Given the description of an element on the screen output the (x, y) to click on. 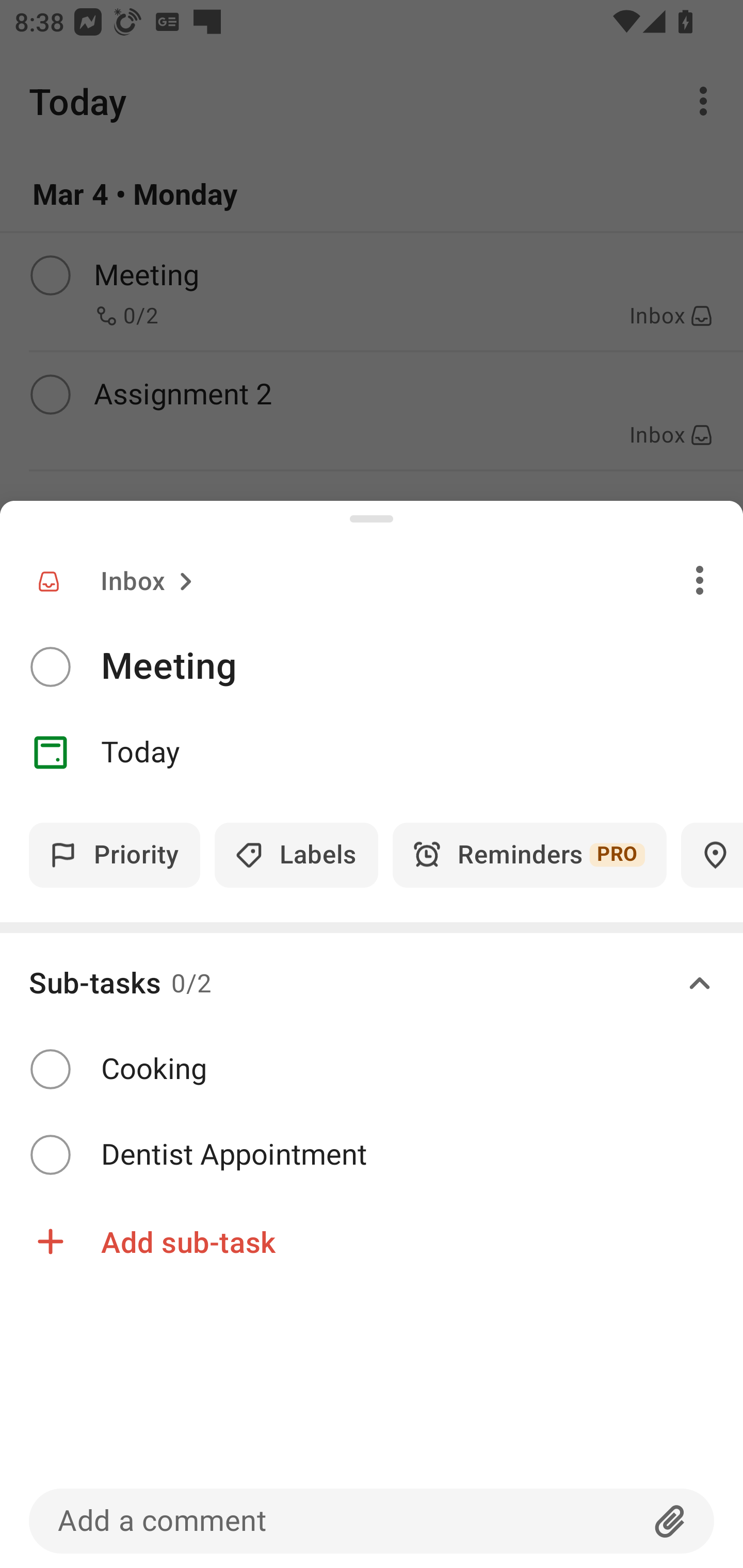
Overflow menu (699, 580)
Complete (50, 667)
Meeting​ (422, 666)
Date Today (371, 752)
Priority (113, 855)
Labels (296, 855)
Reminders PRO (529, 855)
Locations PRO (712, 855)
Sub-tasks 0/2 Expand/collapse (371, 983)
Expand/collapse (699, 983)
Complete Cooking (371, 1070)
Complete (50, 1069)
Complete Dentist Appointment (371, 1155)
Complete (50, 1154)
Add sub-task (371, 1240)
Add a comment Attachment (371, 1520)
Attachment (670, 1520)
